Given the description of an element on the screen output the (x, y) to click on. 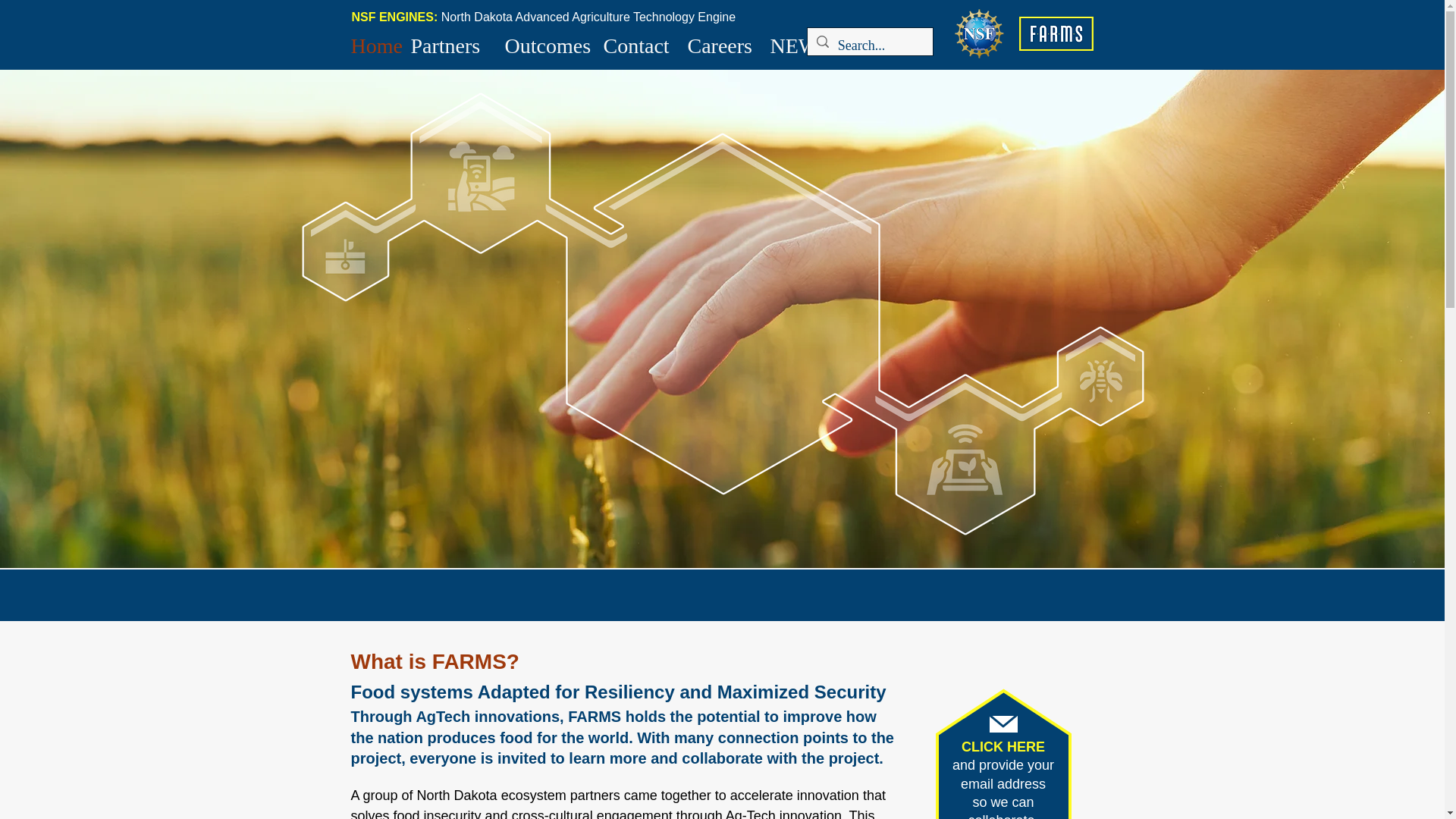
Home (372, 44)
Outcomes (546, 44)
Careers (720, 44)
Contact (637, 44)
CLICK HERE (1002, 746)
NEWS (792, 44)
Partners (450, 44)
